Given the description of an element on the screen output the (x, y) to click on. 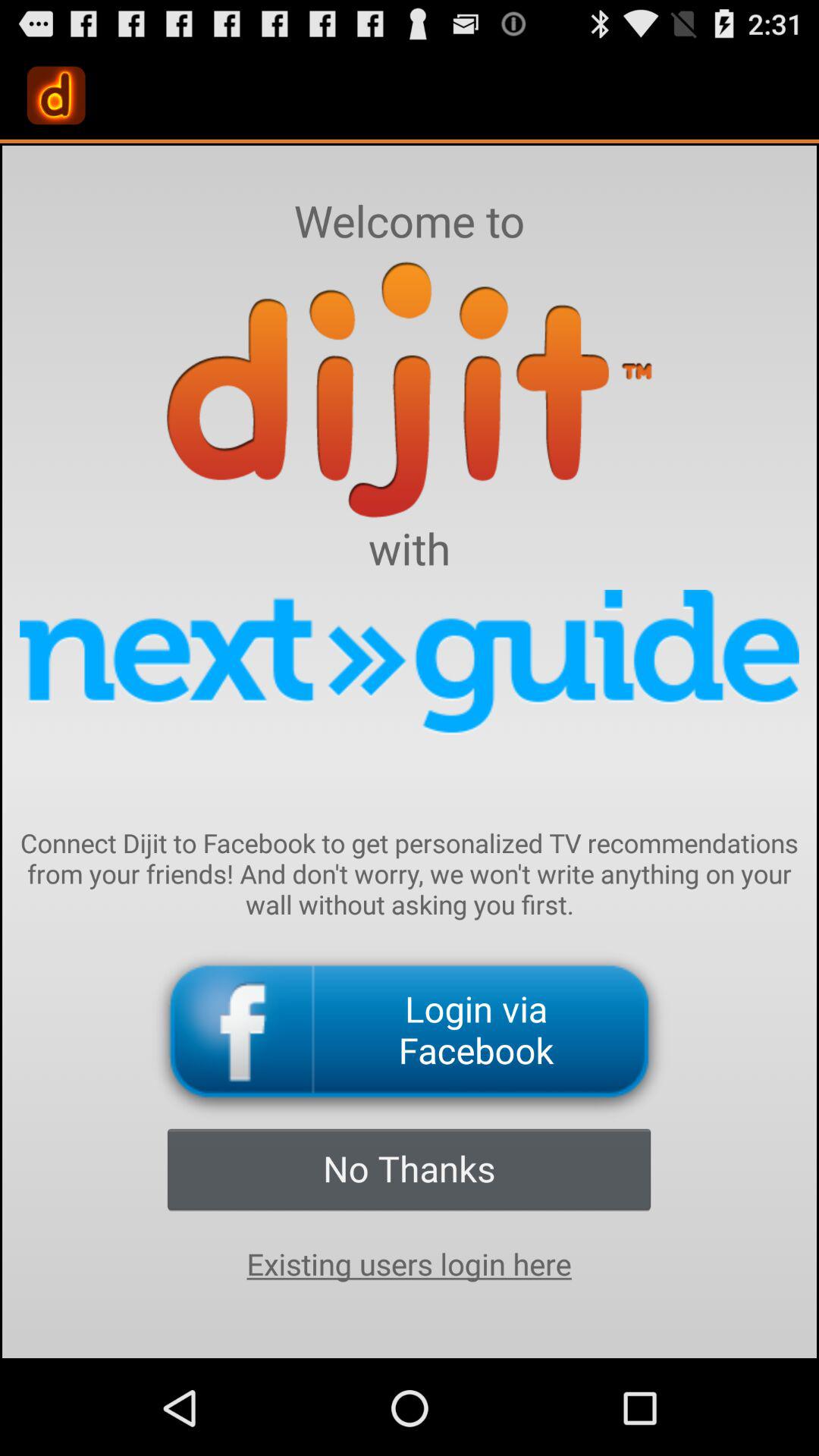
click item below the connect dijit to app (409, 1031)
